Given the description of an element on the screen output the (x, y) to click on. 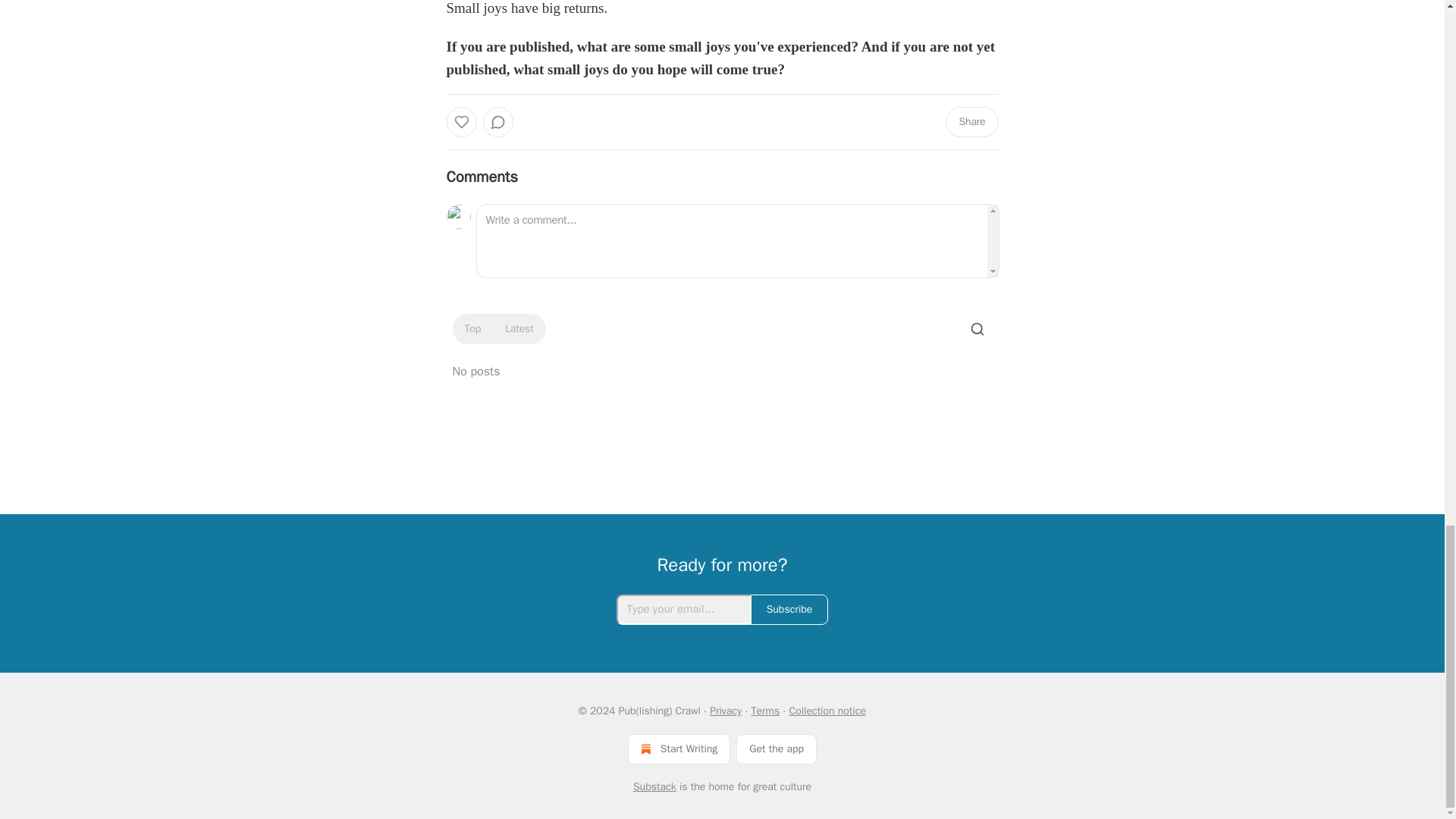
Latest (518, 328)
Terms (764, 710)
Top (471, 328)
Privacy (725, 710)
Subscribe (789, 609)
Share (970, 122)
